Given the description of an element on the screen output the (x, y) to click on. 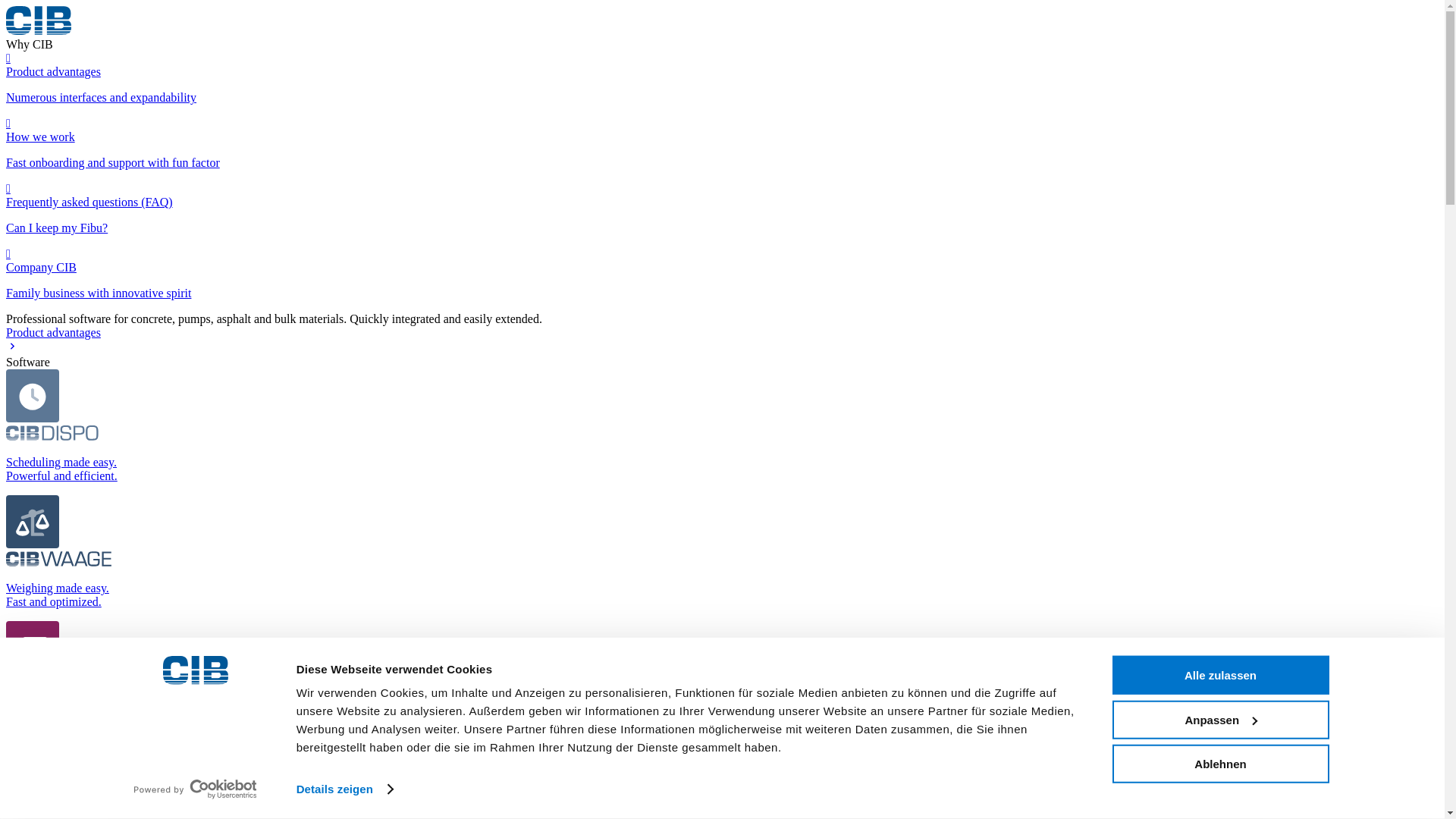
Ablehnen (1219, 763)
Alle zulassen (1219, 675)
Details zeigen (345, 789)
Anpassen (1219, 719)
